Given the description of an element on the screen output the (x, y) to click on. 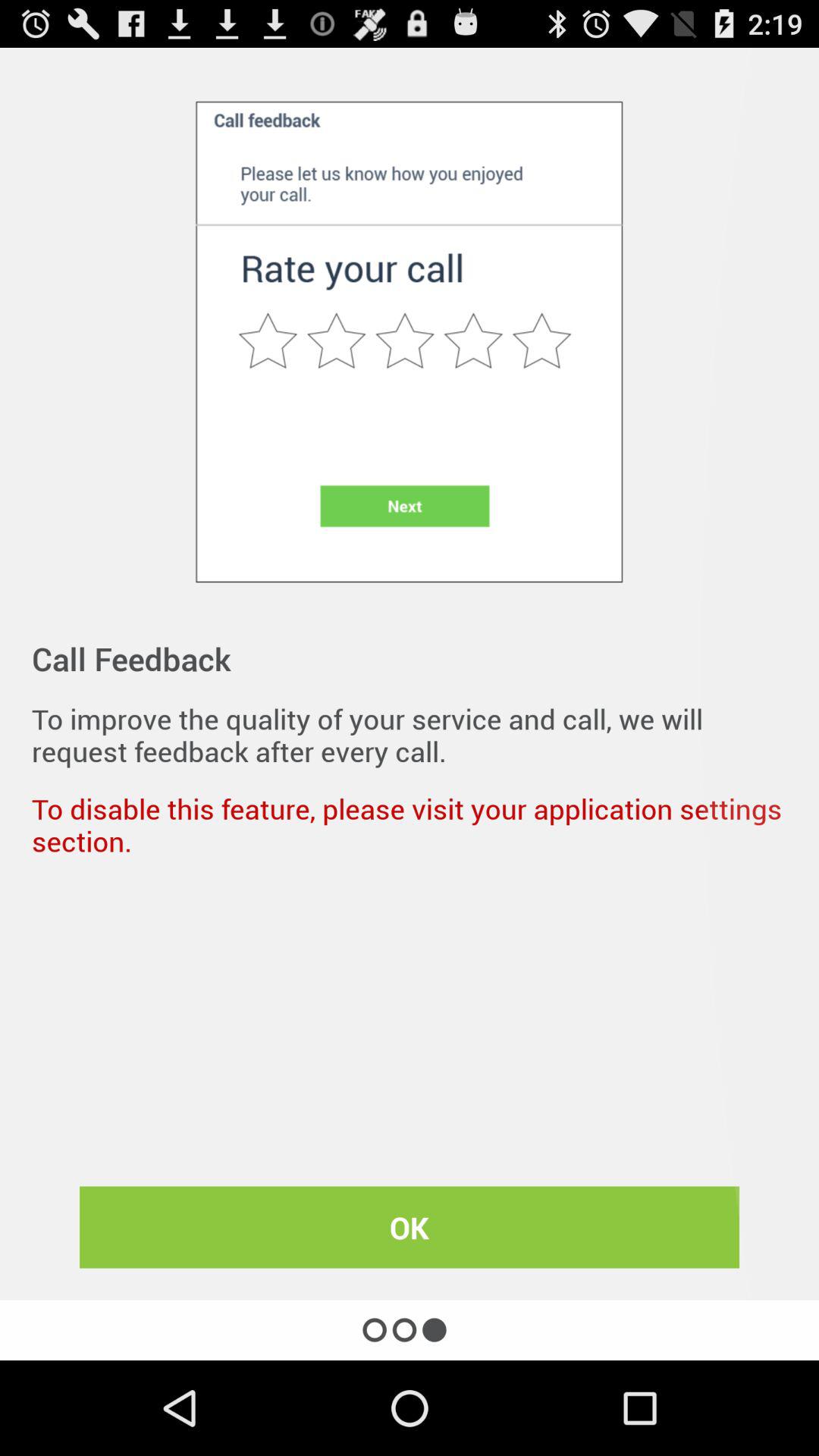
turn on the ok icon (409, 1227)
